Given the description of an element on the screen output the (x, y) to click on. 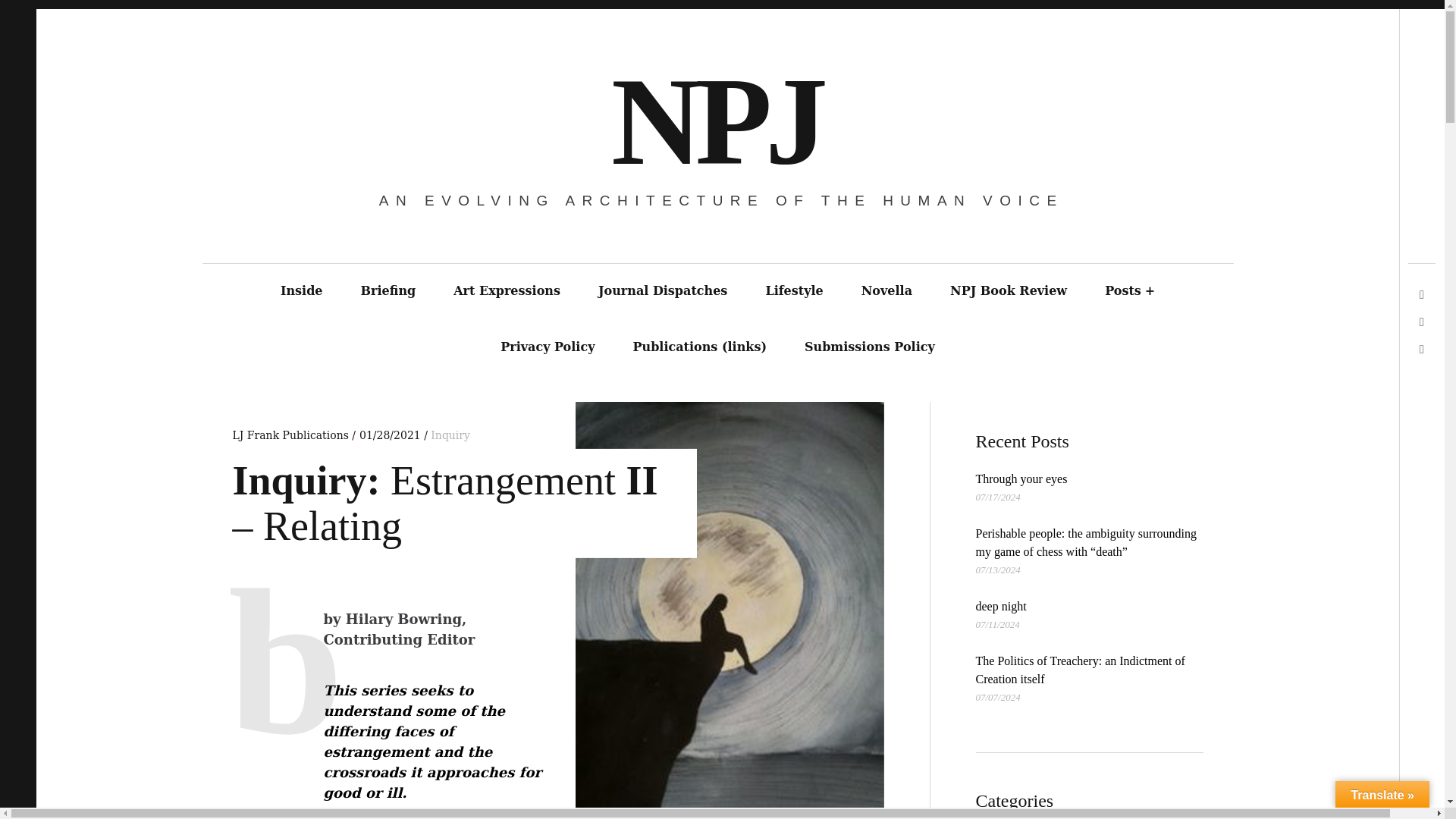
Inquiry (450, 435)
Submissions Policy (869, 347)
Privacy Policy (546, 347)
Journal Dispatches (662, 290)
Inside (302, 290)
NPJ Book Review (1008, 290)
LJ Frank Publications (291, 435)
Lifestyle (793, 290)
Novella (887, 290)
Briefing (388, 290)
NPJ (716, 120)
Art Expressions (506, 290)
